Given the description of an element on the screen output the (x, y) to click on. 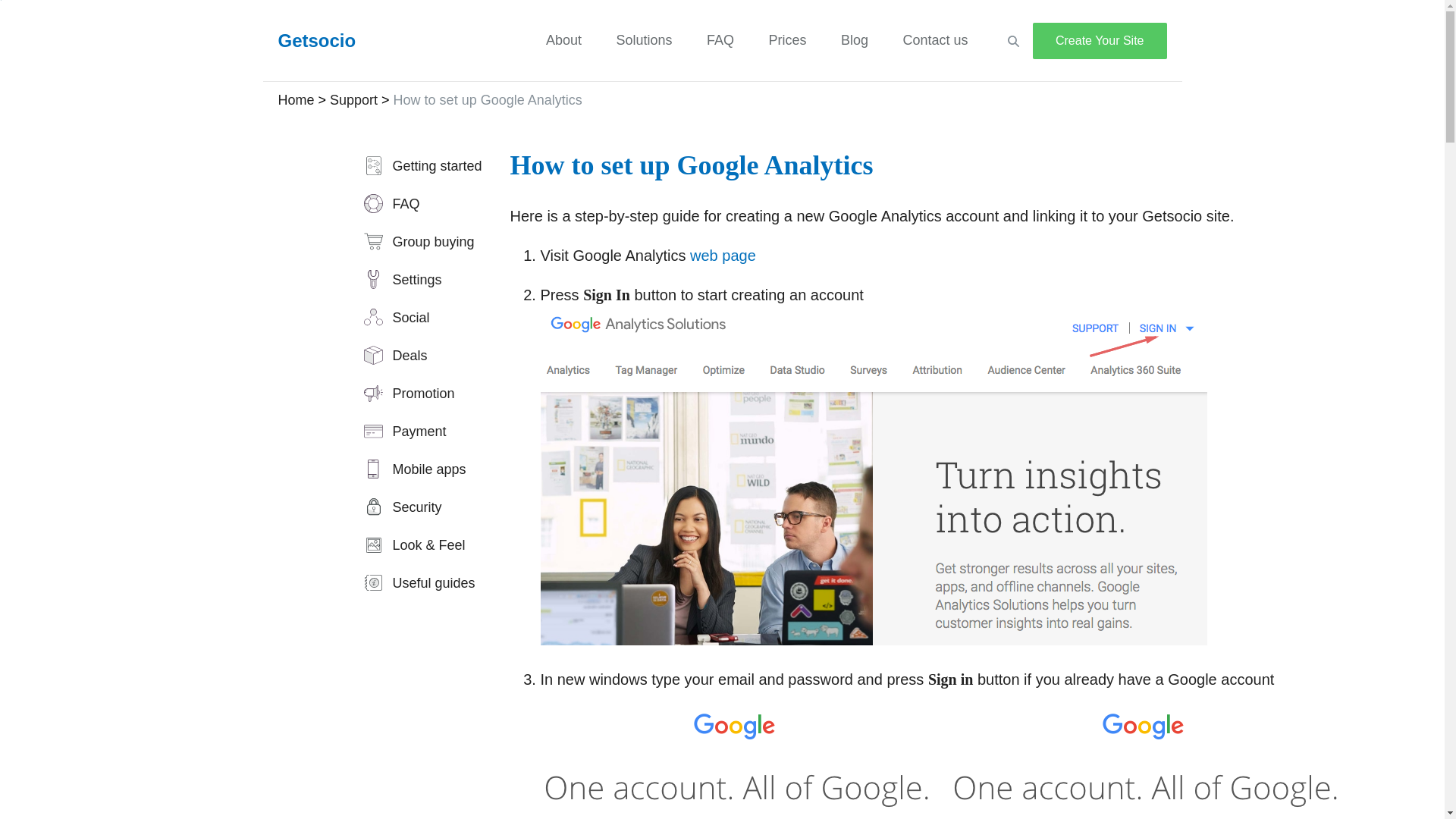
Deals (392, 355)
Getsocio (315, 40)
Home (296, 99)
Solutions (643, 38)
Social (393, 317)
Settings (399, 279)
Prices (787, 38)
FAQ (388, 203)
About (563, 38)
Create Your Site (1099, 40)
